Given the description of an element on the screen output the (x, y) to click on. 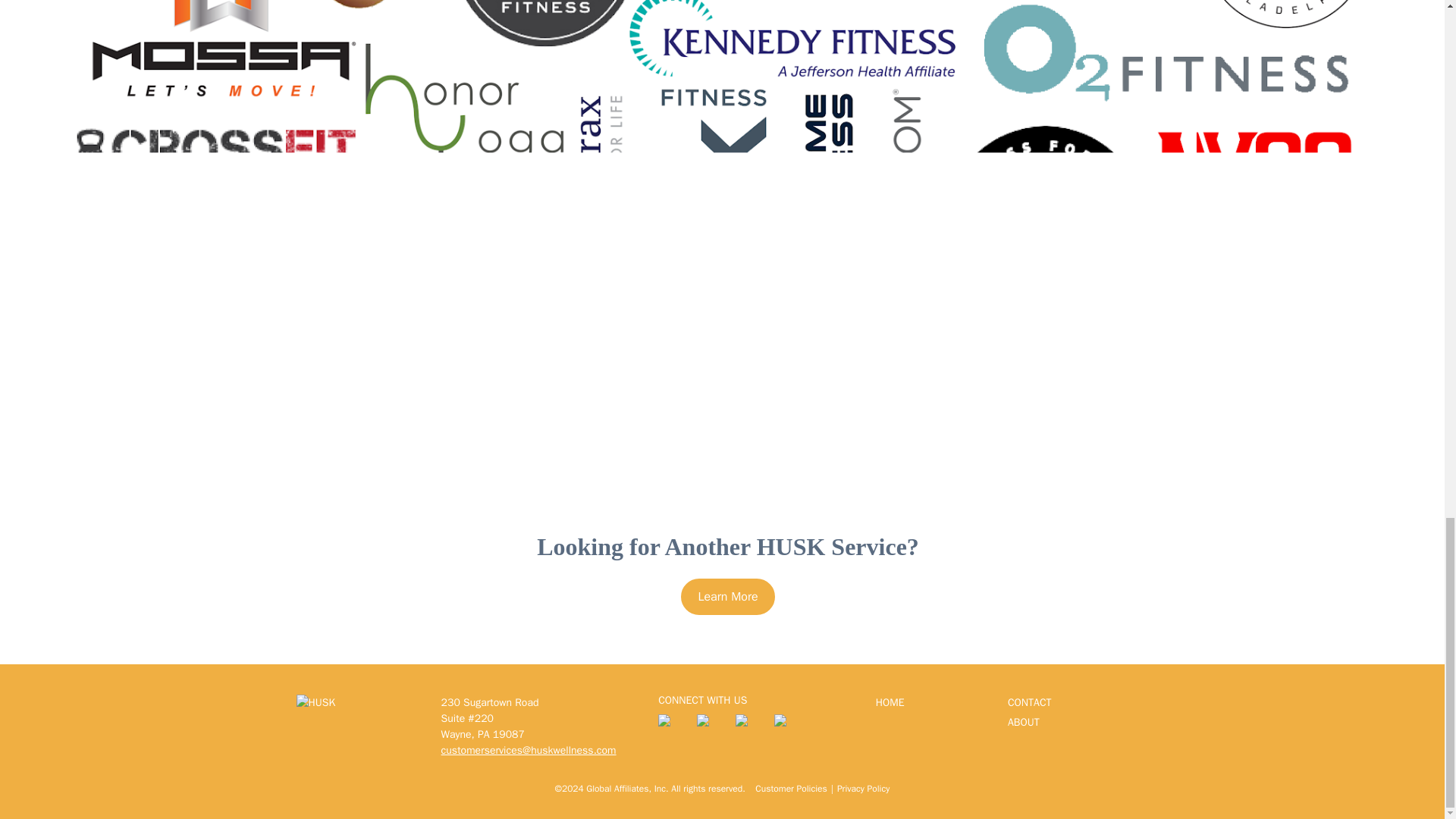
ABOUT (1073, 723)
CONTACT (1073, 704)
Contact us (1073, 704)
HOME (941, 704)
About HUSK (1073, 723)
Go Home (941, 704)
Customer Policies (791, 788)
LinkedIn (748, 727)
Twitter (671, 727)
Facebook (710, 727)
